Given the description of an element on the screen output the (x, y) to click on. 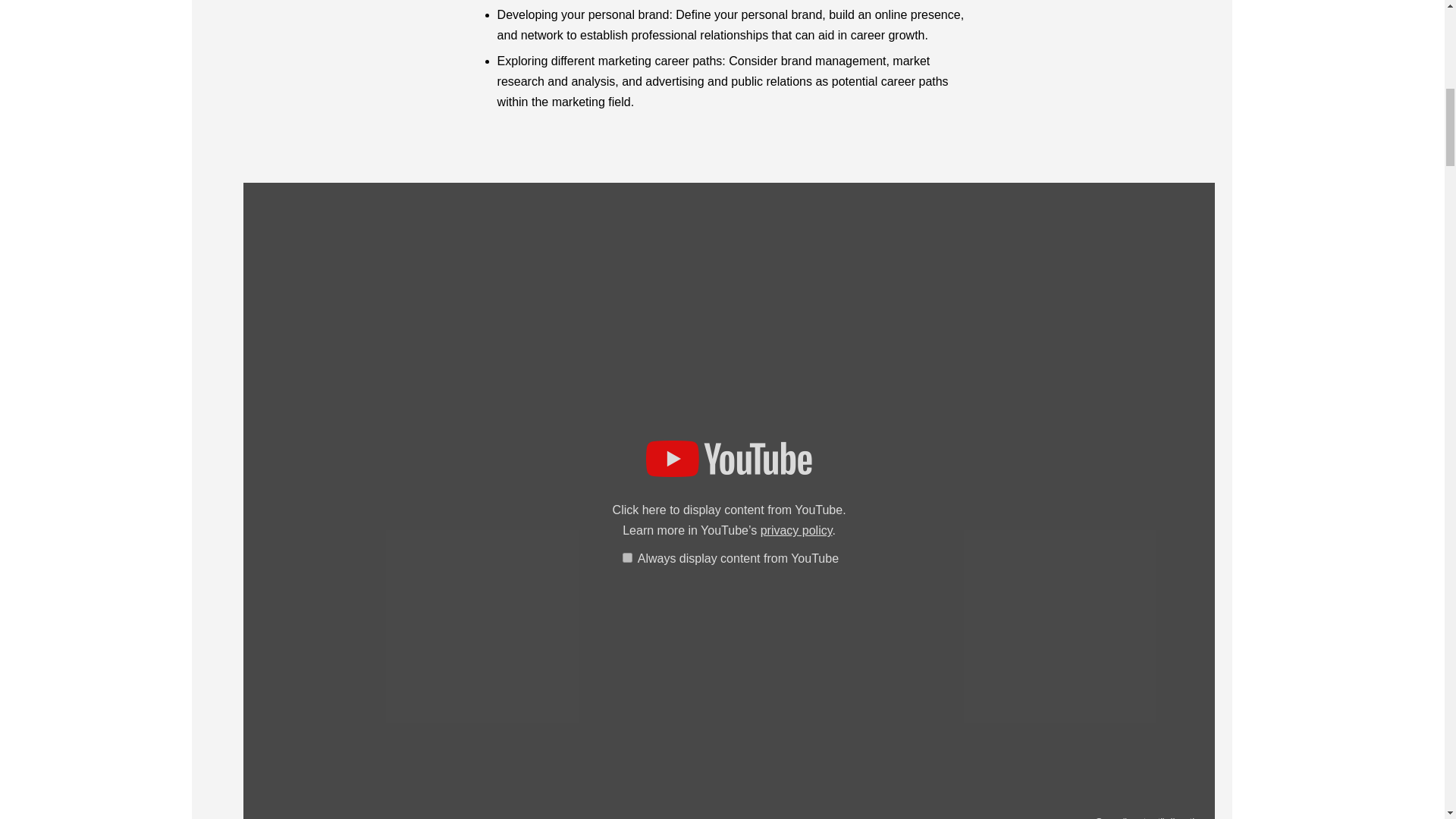
privacy policy (796, 530)
1 (627, 557)
Open "content" directly (1146, 817)
